Given the description of an element on the screen output the (x, y) to click on. 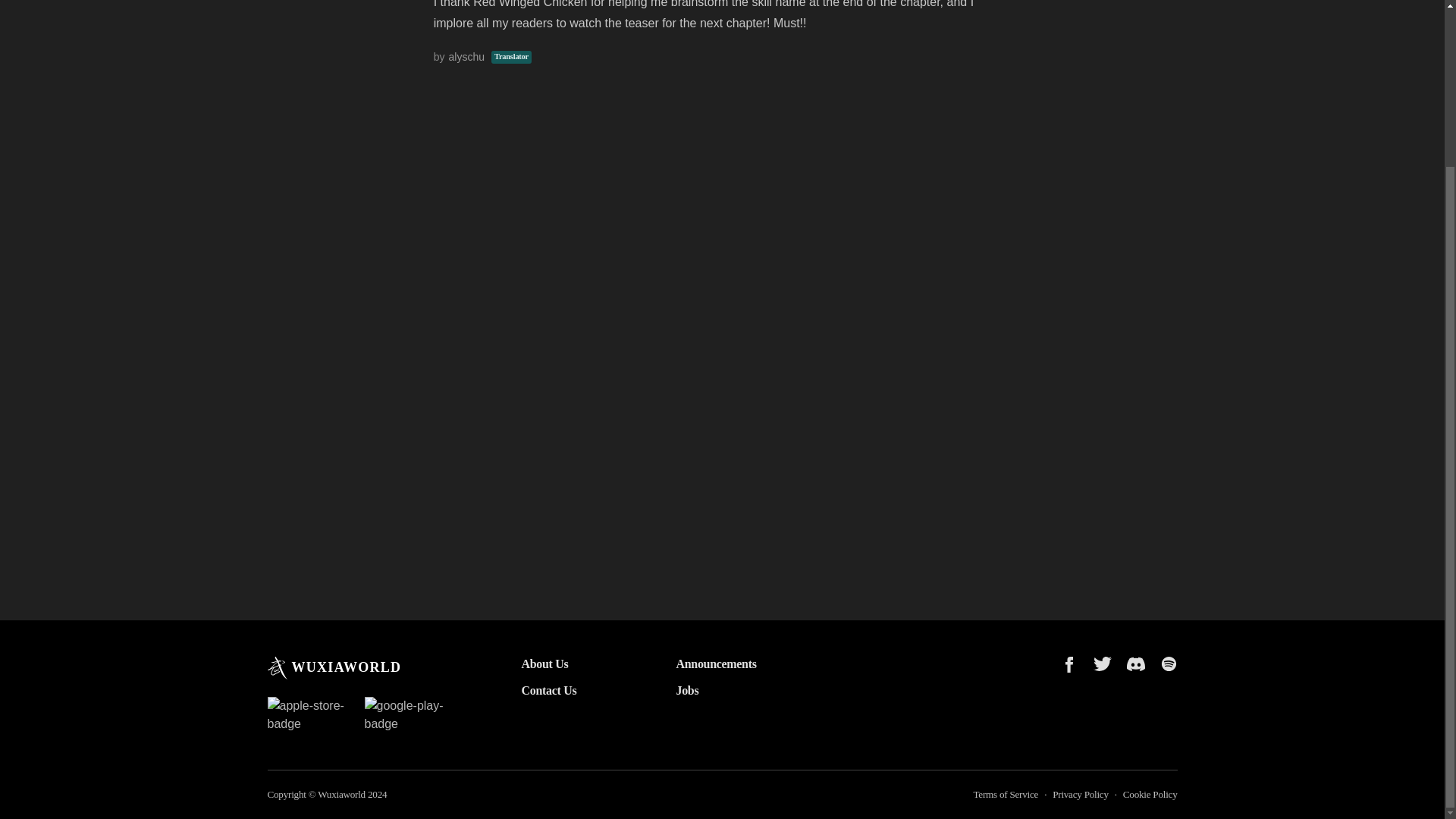
WUXIAWORLD (333, 667)
Terms of Service (1005, 794)
Cookie Policy (1149, 794)
Jobs (730, 690)
Wuxiaworld (341, 794)
Privacy Policy (1080, 794)
Contact Us (574, 690)
About Us (574, 663)
Announcements (730, 663)
